Given the description of an element on the screen output the (x, y) to click on. 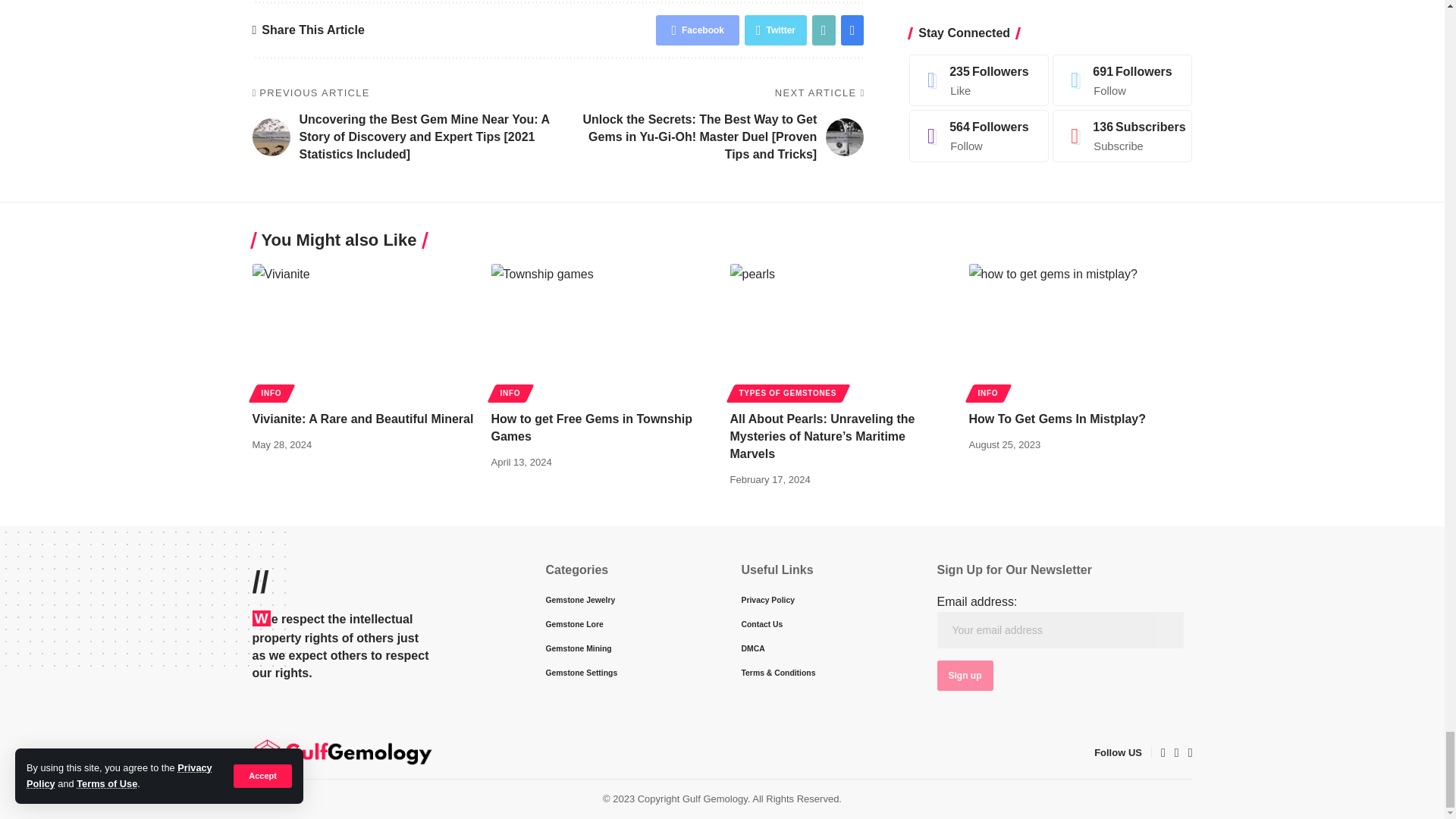
Gulfgemology (341, 752)
Sign up (964, 675)
How To Get Gems In Mistplay? (1080, 330)
Vivianite: A Rare and Beautiful Mineral (363, 330)
How to get Free Gems in Township Games (603, 330)
